Given the description of an element on the screen output the (x, y) to click on. 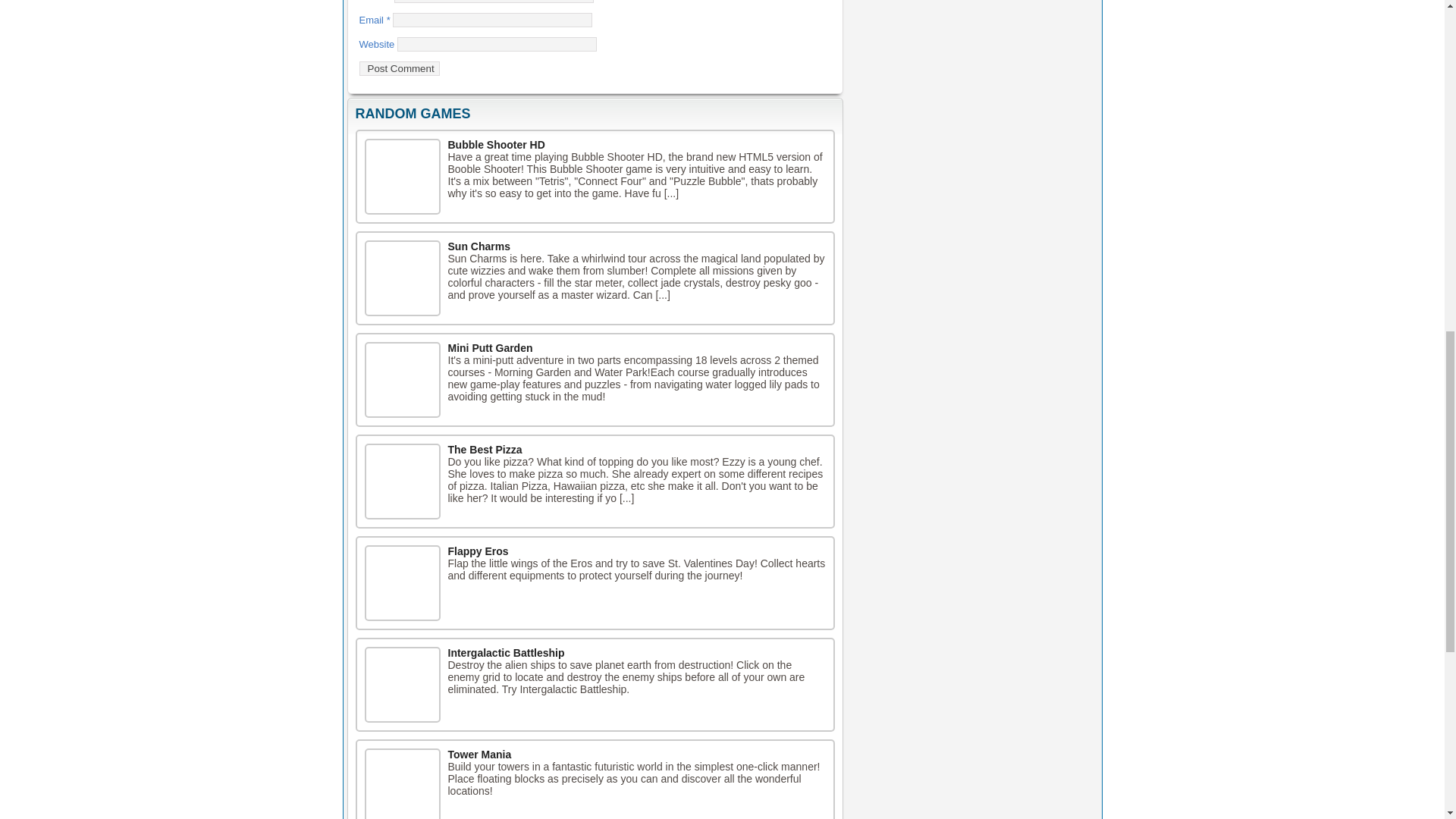
Sun Charms (477, 246)
Bubble Shooter HD (495, 144)
Tower Mania (478, 754)
Flappy Eros (477, 551)
Sun Charms (477, 246)
Bubble Shooter HD (401, 176)
Post Comment (399, 68)
Bubble Shooter HD (495, 144)
Intergalactic Battleship (505, 653)
Post Comment (399, 68)
Sun Charms (401, 278)
The Best Pizza (483, 449)
Mini Putt Garden (489, 347)
